Given the description of an element on the screen output the (x, y) to click on. 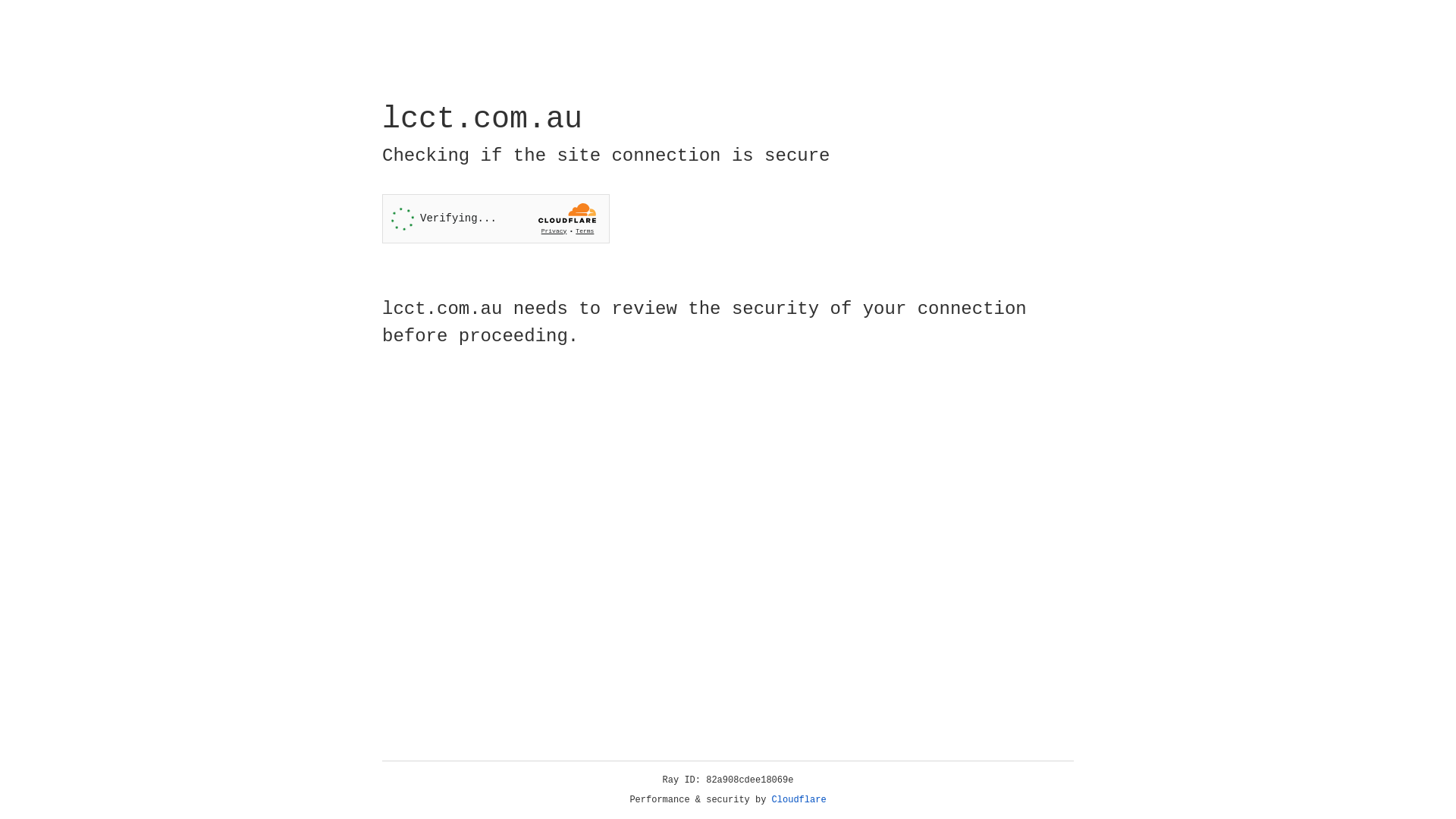
Cloudflare Element type: text (798, 799)
Widget containing a Cloudflare security challenge Element type: hover (495, 218)
